Given the description of an element on the screen output the (x, y) to click on. 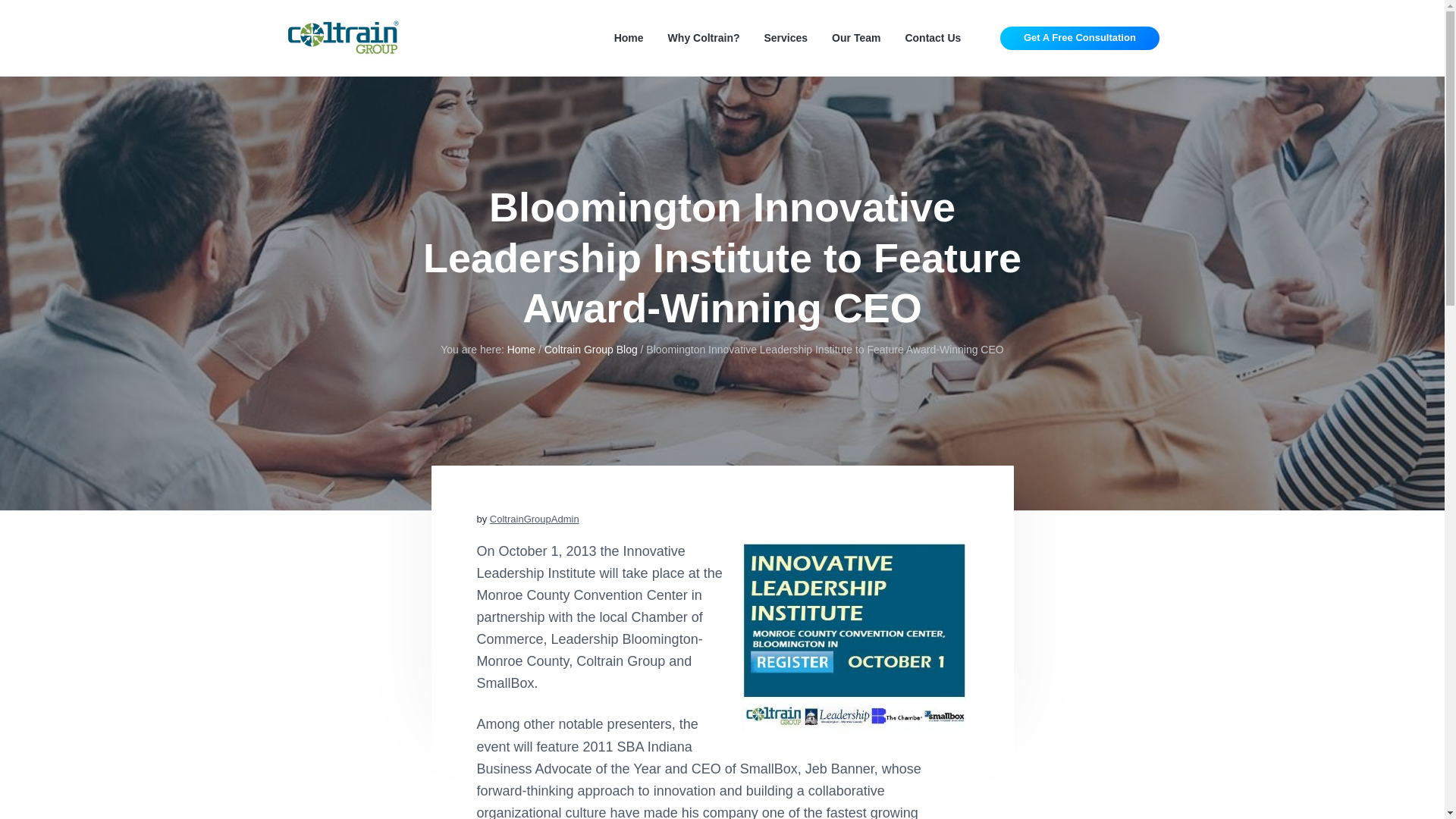
Coltrain Group Blog (590, 349)
ColtrainGroupAdmin (534, 518)
Why Coltrain? (703, 37)
Get A Free Consultation (1079, 37)
Home (520, 349)
Contact Us (932, 37)
Services (786, 37)
Our Team (855, 37)
Home (628, 37)
